Given the description of an element on the screen output the (x, y) to click on. 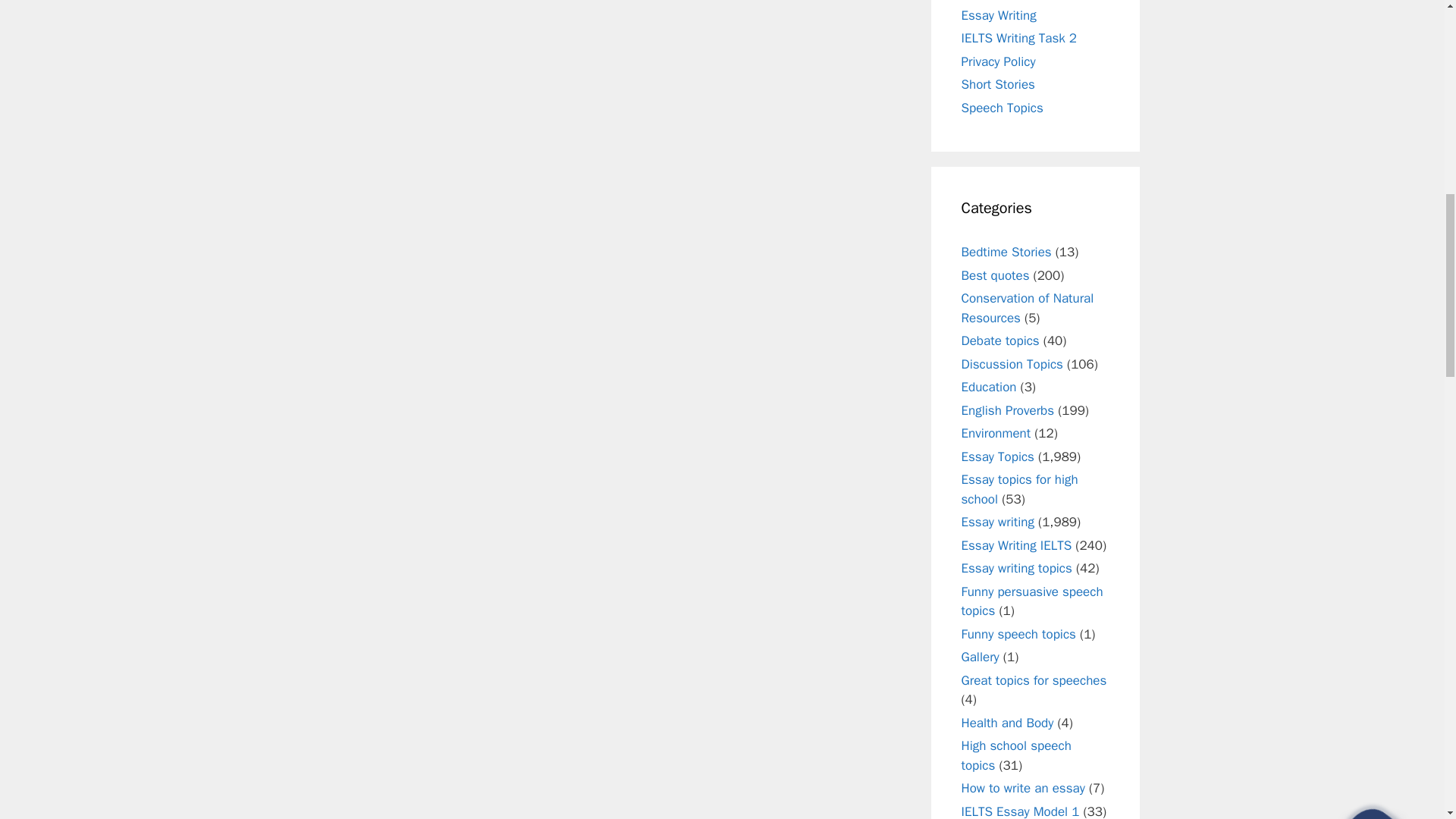
Bedtime Stories (1005, 252)
Speech Topics (1001, 107)
Privacy Policy (997, 61)
Short Stories (997, 84)
Essay Writing (998, 15)
IELTS Writing Task 2 (1018, 37)
